Given the description of an element on the screen output the (x, y) to click on. 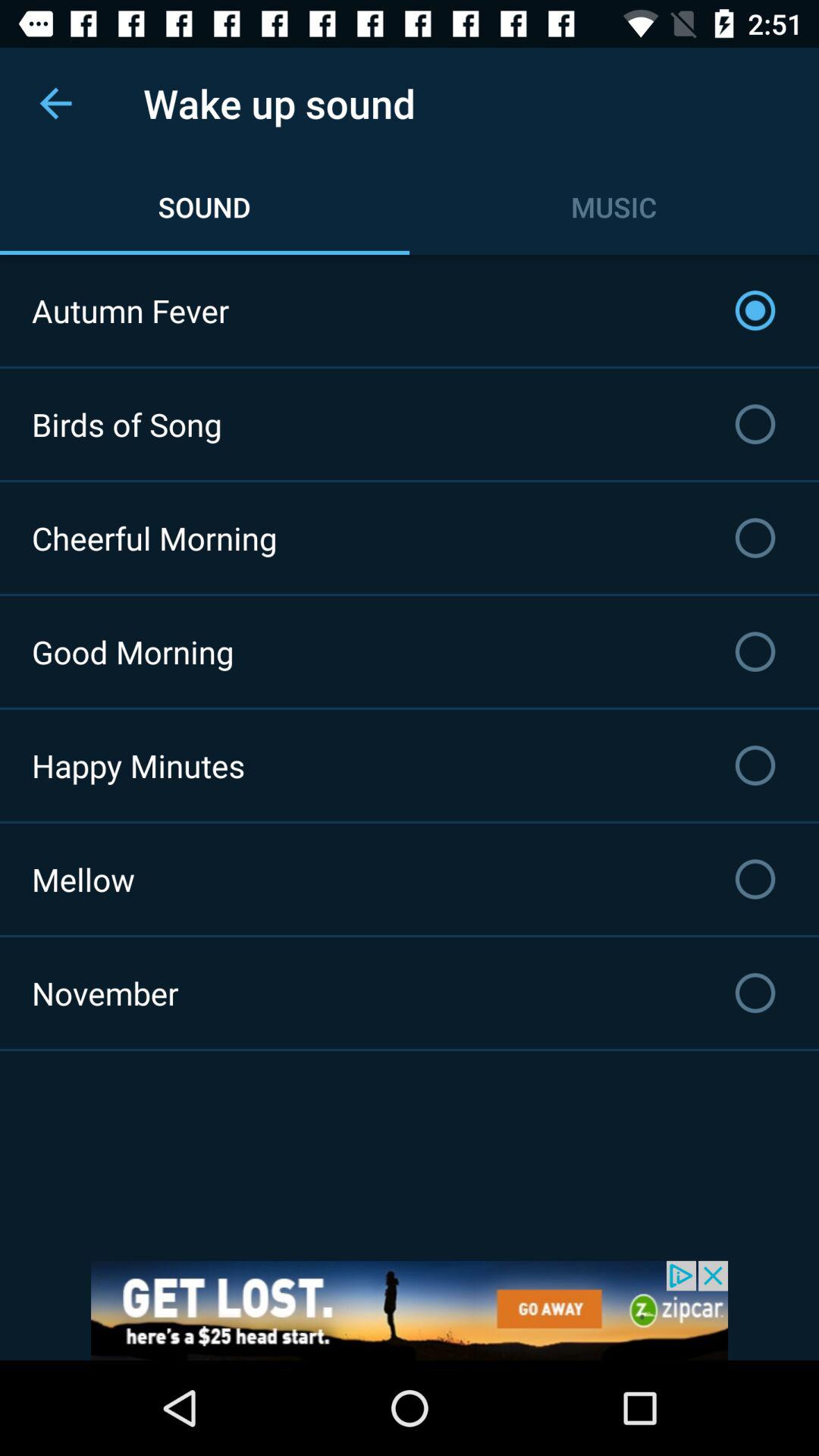
press the item next to wake up sound (55, 103)
